Given the description of an element on the screen output the (x, y) to click on. 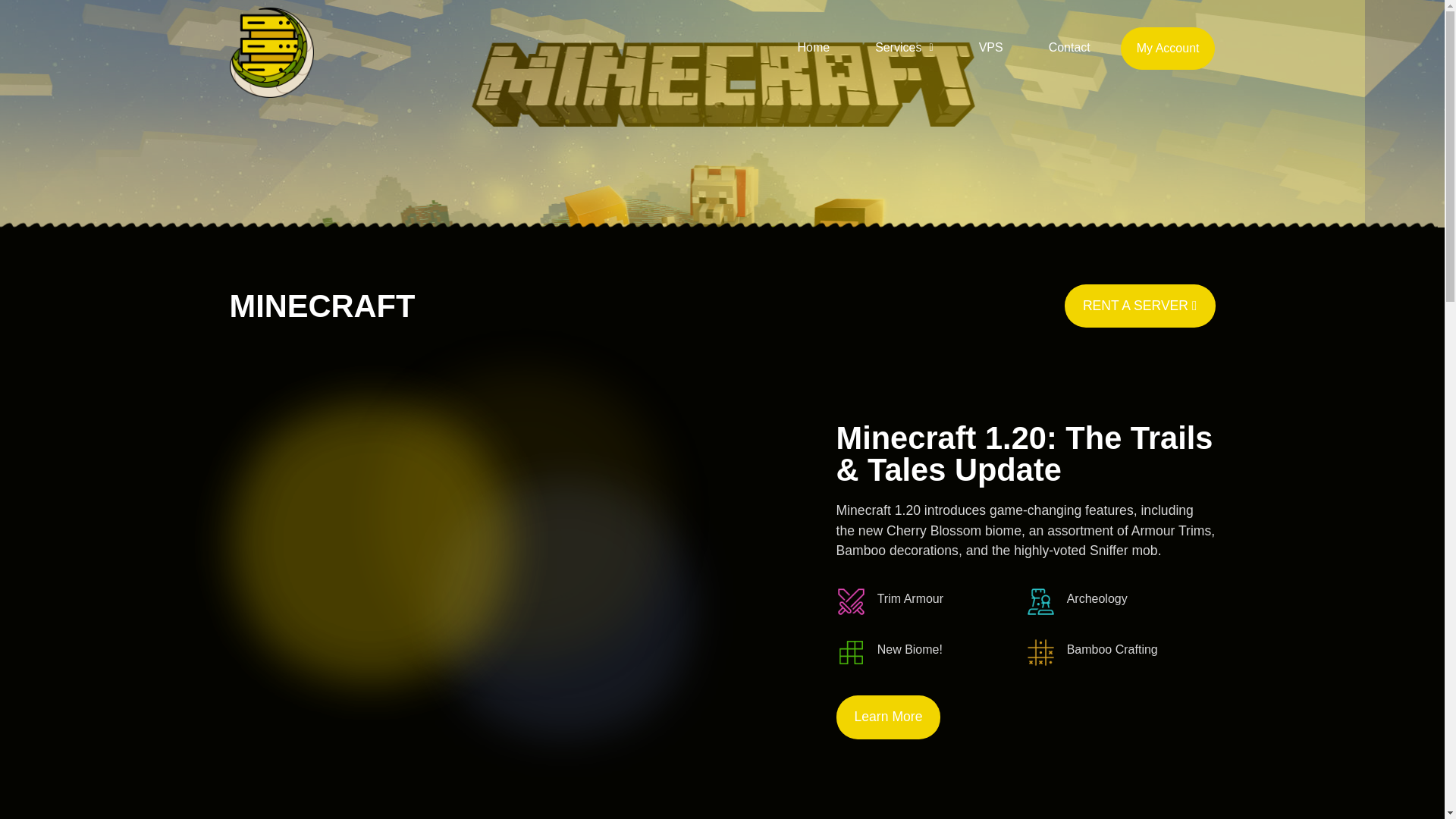
RENT A SERVER (1139, 306)
VPS (990, 47)
My Account (1168, 48)
Services (903, 47)
Contact (1069, 47)
Home (812, 47)
Learn More (887, 717)
